Given the description of an element on the screen output the (x, y) to click on. 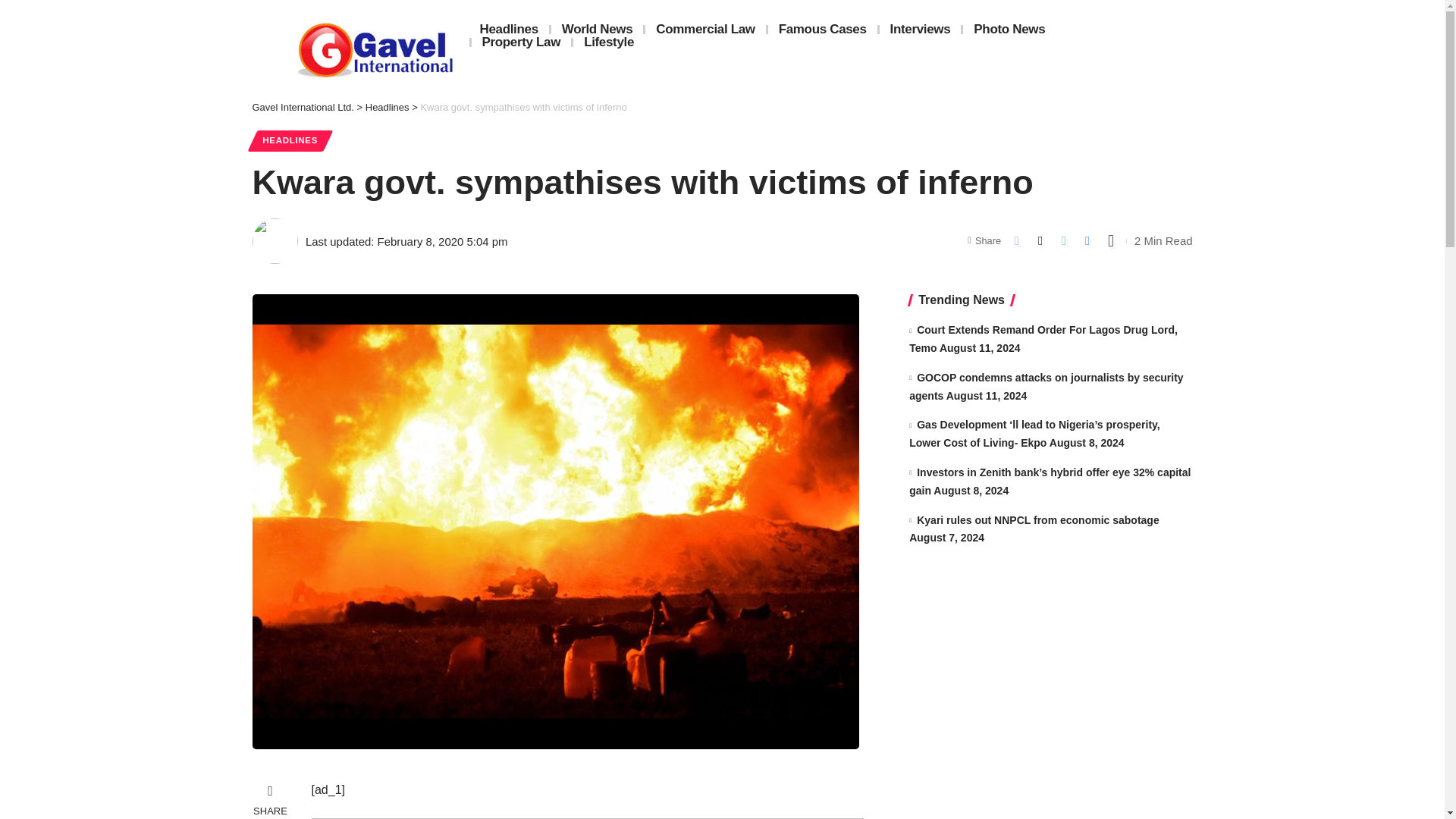
Gavel International Ltd. (302, 107)
Go to Gavel International Ltd.. (302, 107)
Court Extends Remand Order For Lagos Drug Lord, Temo (1042, 338)
World News (597, 29)
Property Law (521, 42)
Commercial Law (705, 29)
Lifestyle (609, 42)
HEADLINES (289, 140)
Go to the Headlines Category archives. (387, 107)
Headlines (387, 107)
